Given the description of an element on the screen output the (x, y) to click on. 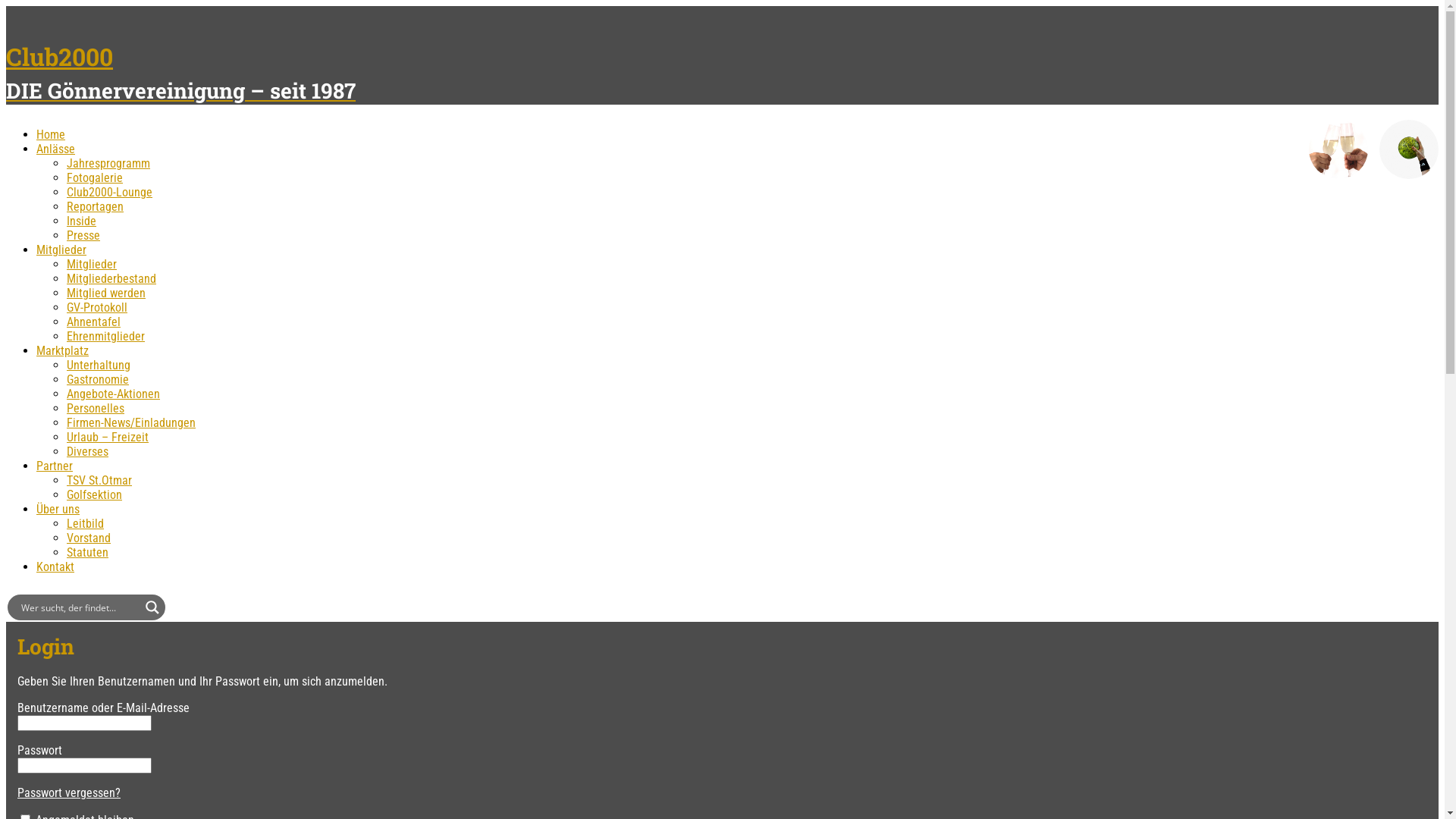
Vorstand Element type: text (88, 537)
Mitglieder Element type: text (61, 249)
Club2000-Lounge Element type: text (109, 192)
Personelles Element type: text (95, 408)
Diverses Element type: text (87, 451)
Partner Element type: text (54, 465)
Mitglieder Element type: text (91, 264)
Firmen-News/Einladungen Element type: text (130, 422)
Marktplatz Element type: text (62, 350)
Angebote-Aktionen Element type: text (113, 393)
Presse Element type: text (83, 235)
Mitgliederbestand Element type: text (111, 278)
Reportagen Element type: text (94, 206)
Kontakt Element type: text (55, 566)
Jahresprogramm Element type: text (108, 163)
Leitbild Element type: text (84, 523)
Statuten Element type: text (87, 552)
Gastronomie Element type: text (97, 379)
Mitglied werden Element type: text (105, 292)
Passwort vergessen? Element type: text (68, 792)
Fotogalerie Element type: text (94, 177)
Unterhaltung Element type: text (98, 364)
Ehrenmitglieder Element type: text (105, 336)
TSV St.Otmar Element type: text (98, 480)
GV-Protokoll Element type: text (96, 307)
Golfsektion Element type: text (94, 494)
Home Element type: text (50, 134)
Inside Element type: text (81, 220)
Ahnentafel Element type: text (93, 321)
